Given the description of an element on the screen output the (x, y) to click on. 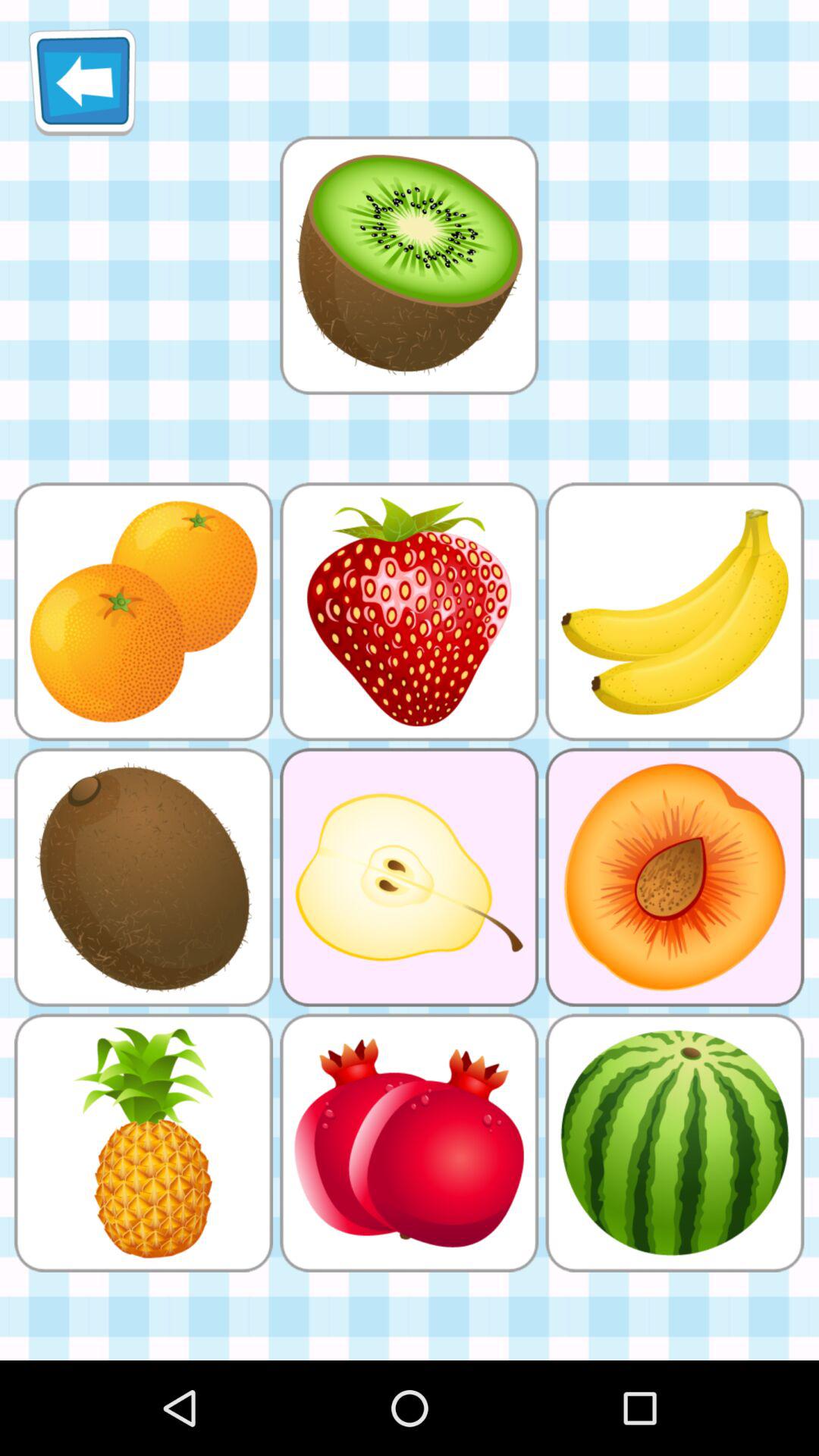
kiwi (409, 265)
